Given the description of an element on the screen output the (x, y) to click on. 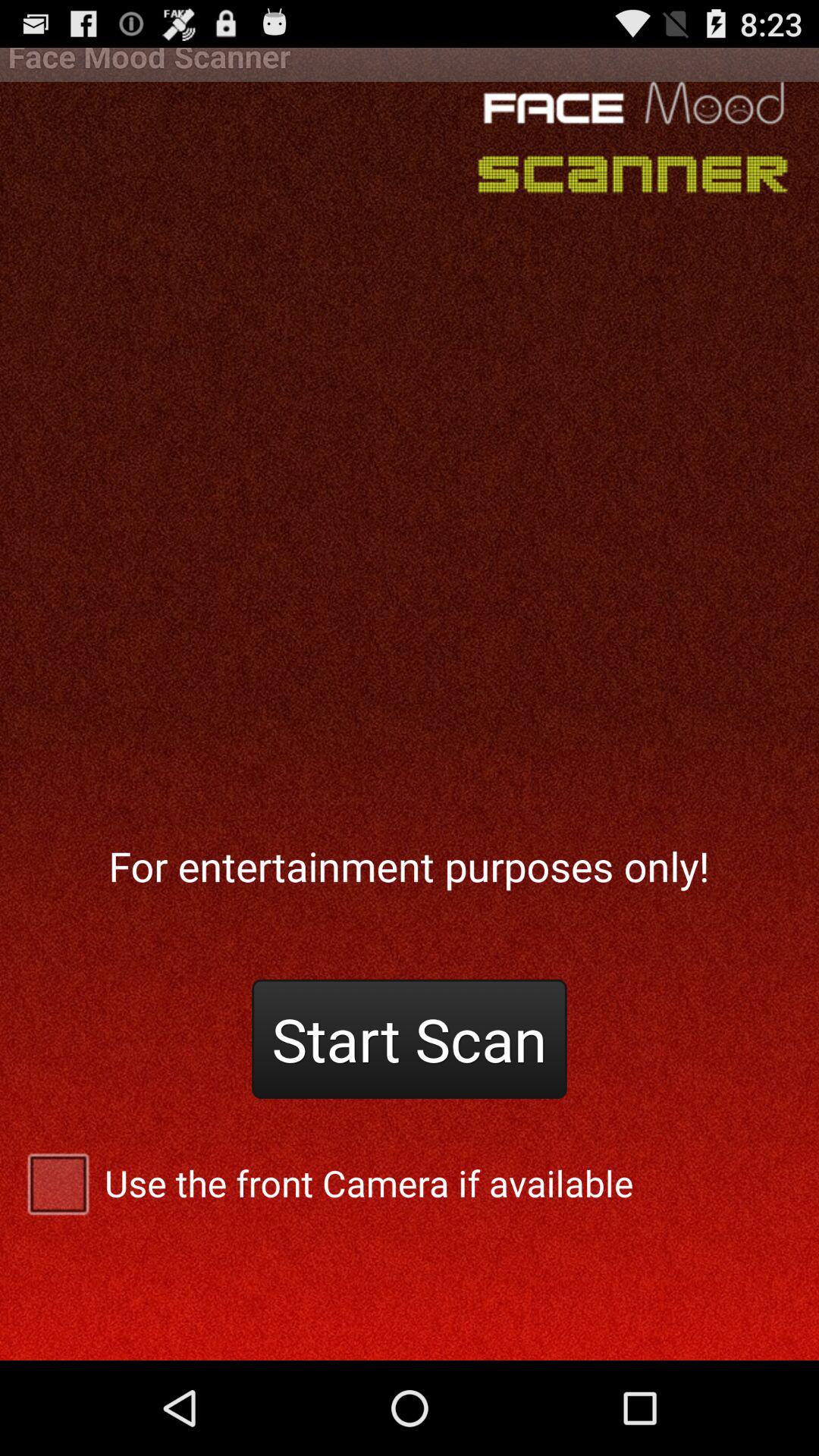
choose the use the front icon (409, 1182)
